Given the description of an element on the screen output the (x, y) to click on. 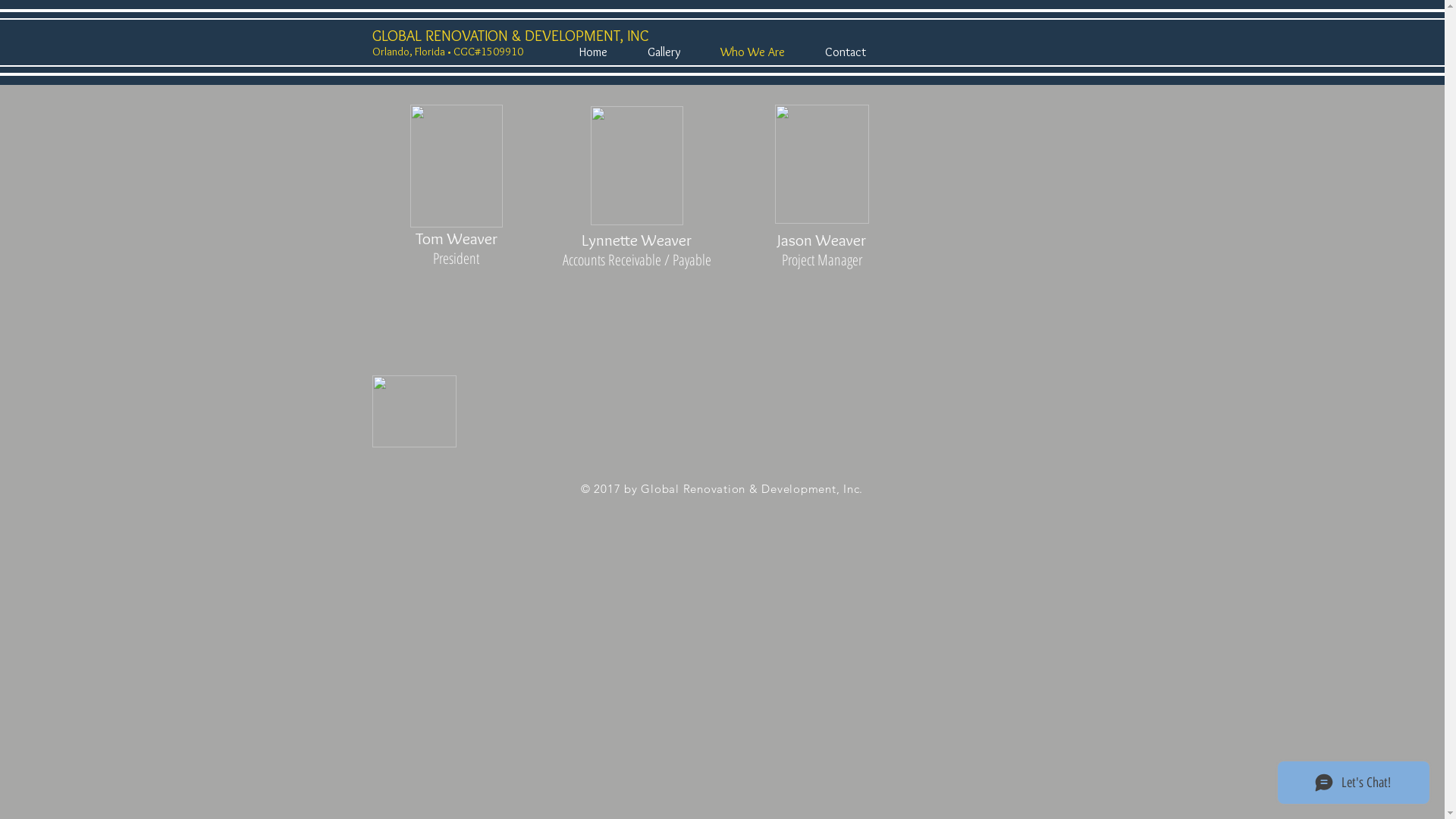
Contact Element type: text (845, 51)
Home Element type: text (592, 51)
Gallery Element type: text (663, 51)
Who We Are Element type: text (752, 51)
